Given the description of an element on the screen output the (x, y) to click on. 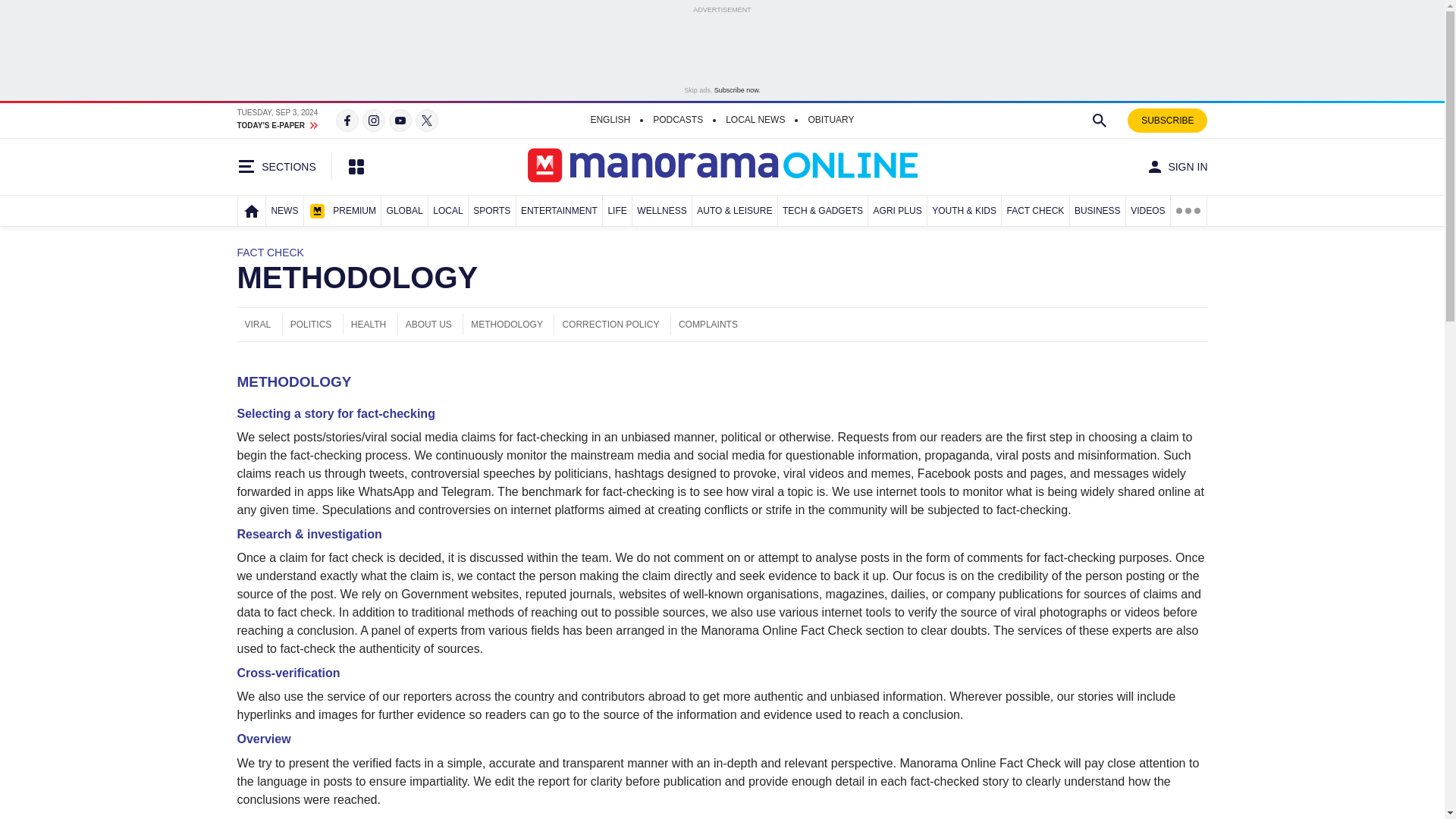
SUBSCRIBE (1166, 120)
Youtube (400, 119)
Our Sites (355, 166)
TODAY'S E-PAPER (277, 123)
ENGLISH (609, 119)
Subscribe now. (737, 90)
OBITUARY (830, 119)
NEWS (284, 210)
LOCAL NEWS (755, 119)
Today's E-paper (277, 123)
